Given the description of an element on the screen output the (x, y) to click on. 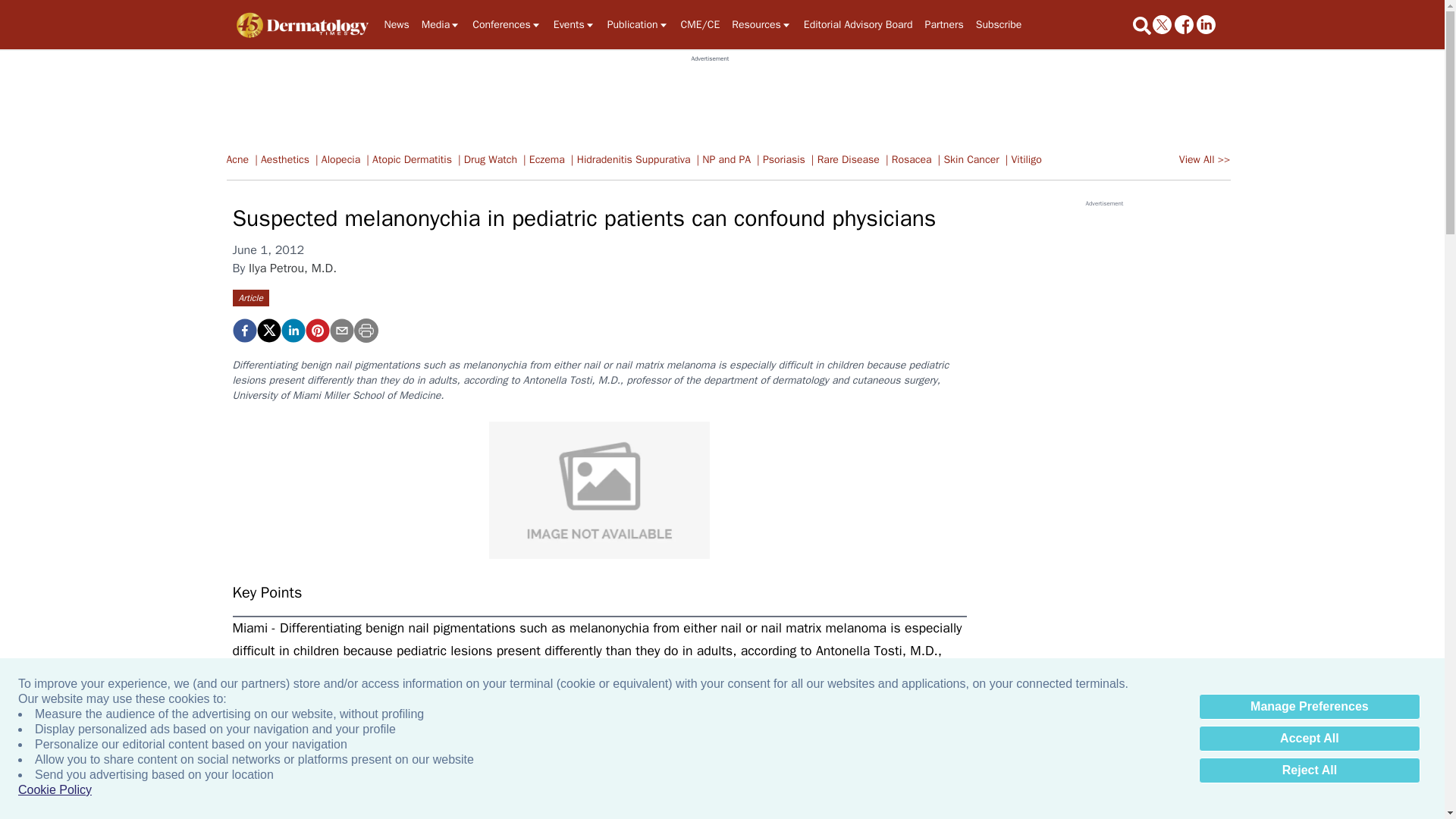
Accept All (1309, 738)
Editorial Advisory Board (857, 23)
Manage Preferences (1309, 706)
News (396, 23)
Cookie Policy (54, 789)
3rd party ad content (709, 97)
Reject All (1309, 769)
